Given the description of an element on the screen output the (x, y) to click on. 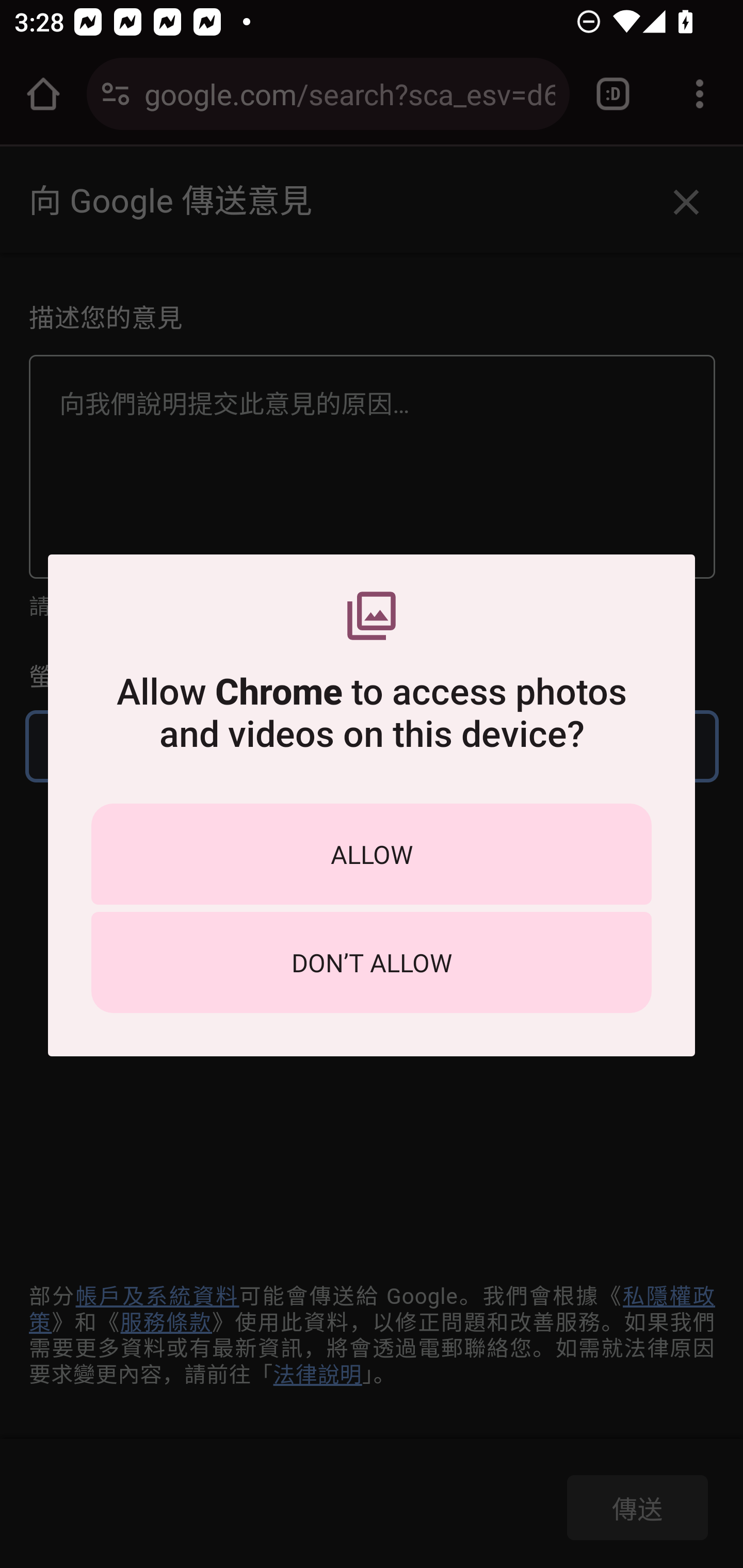
ALLOW (371, 853)
DON’T ALLOW (371, 962)
